Given the description of an element on the screen output the (x, y) to click on. 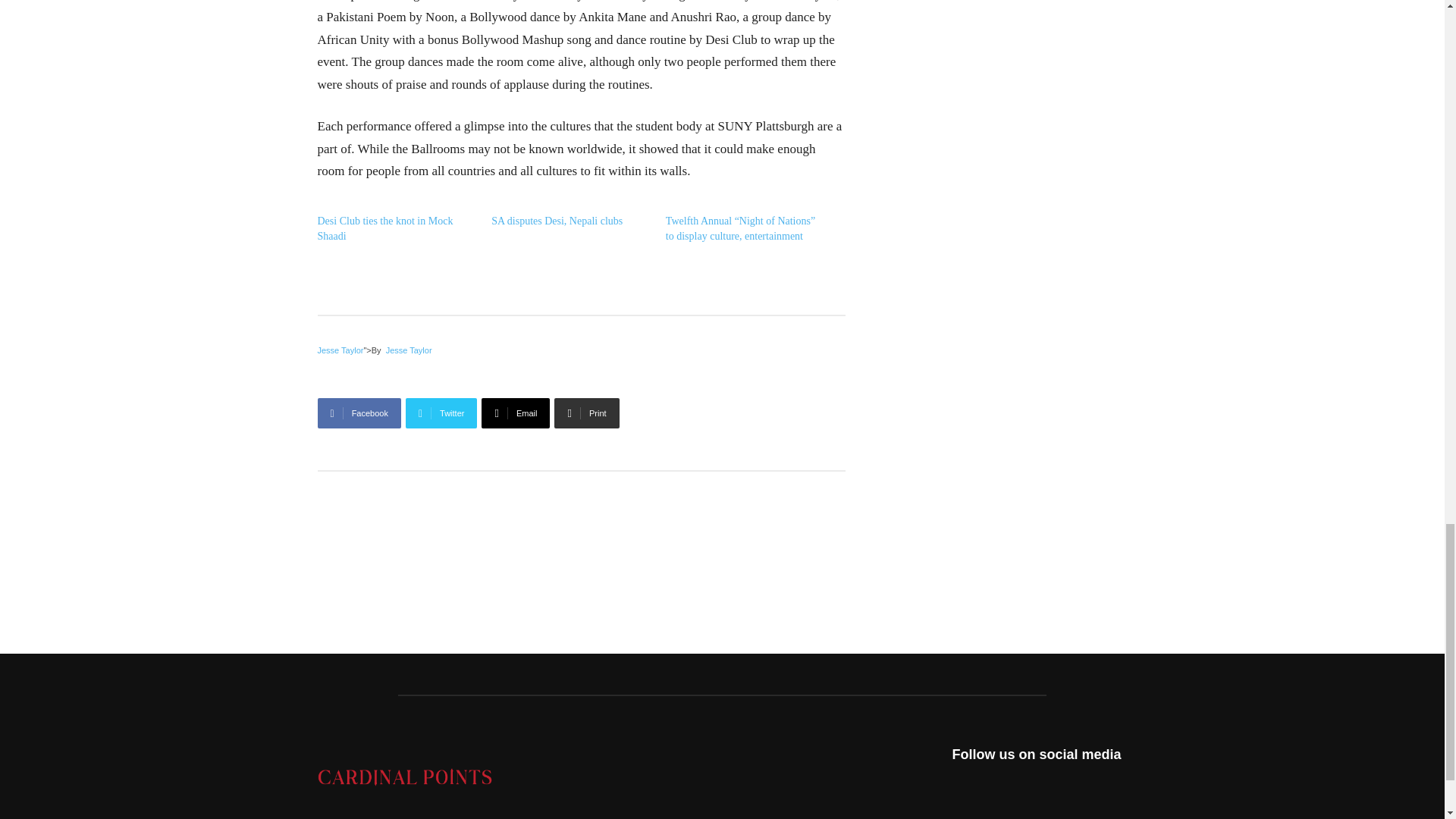
Facebook (358, 413)
Twitter (441, 413)
Desi Club ties the knot in Mock Shaadi (384, 228)
SA disputes Desi, Nepali clubs (557, 220)
